Given the description of an element on the screen output the (x, y) to click on. 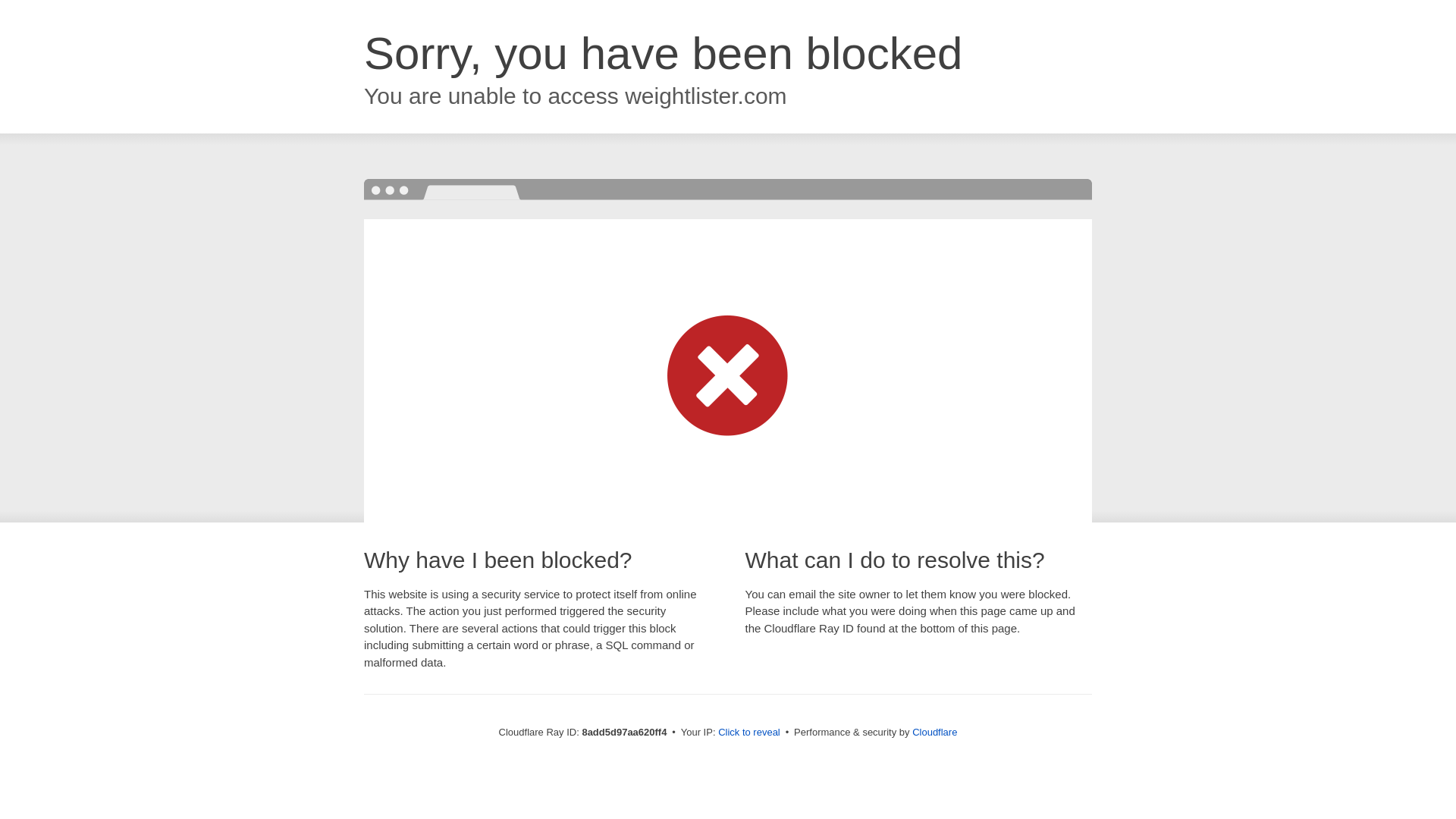
Click to reveal (748, 732)
Cloudflare (934, 731)
